Given the description of an element on the screen output the (x, y) to click on. 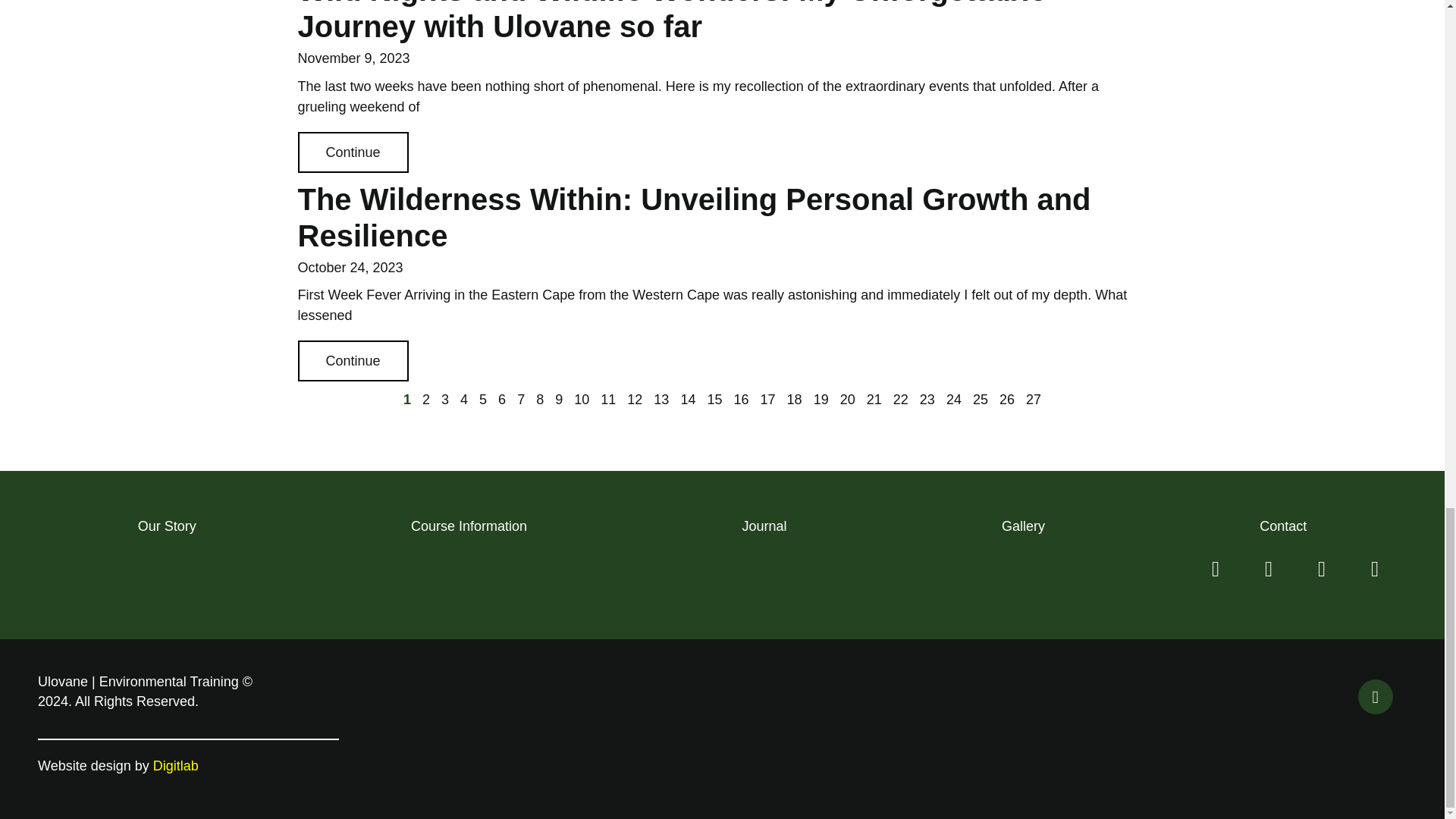
Continue (352, 151)
